Given the description of an element on the screen output the (x, y) to click on. 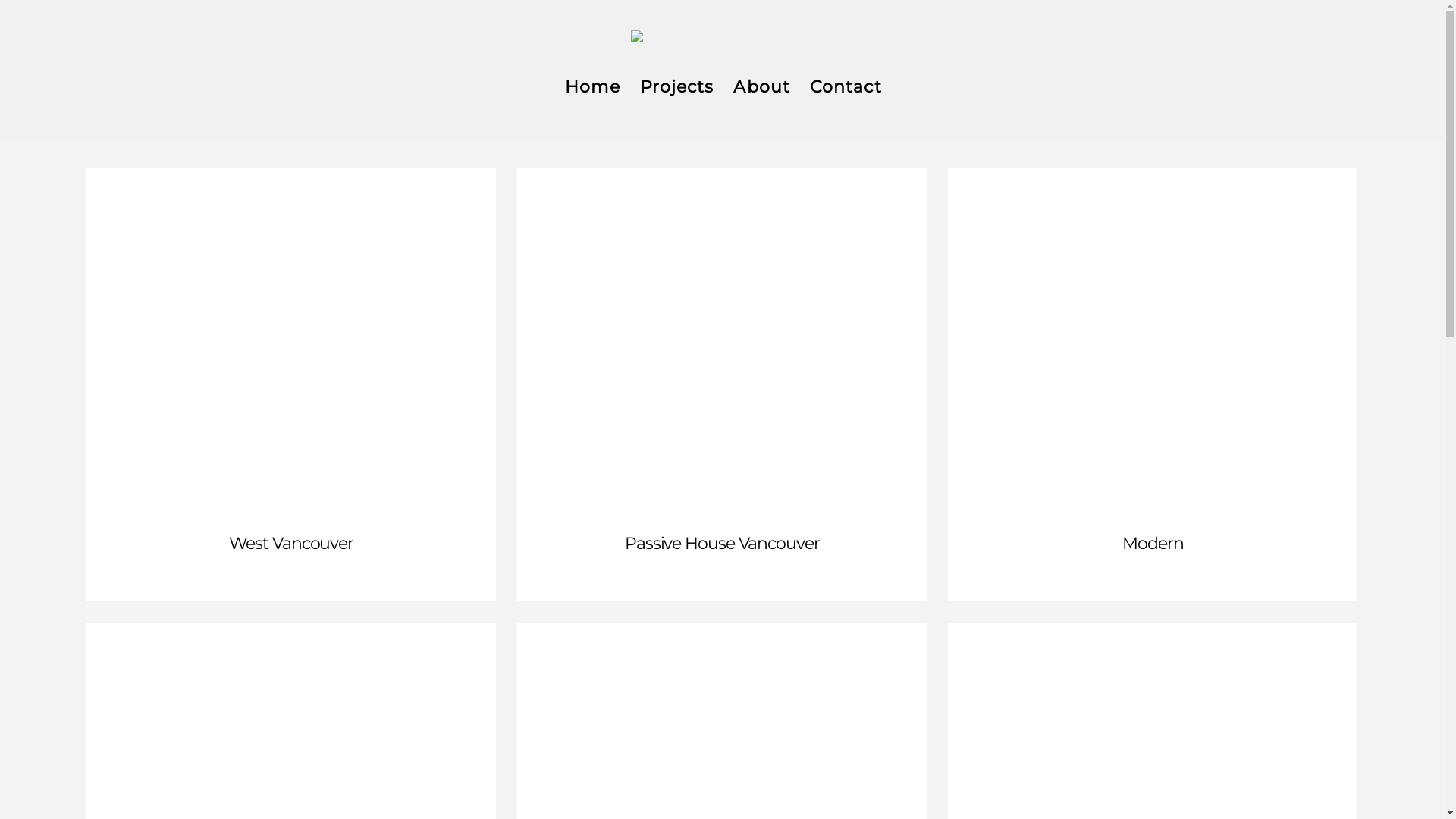
Home Element type: text (591, 89)
Projects Element type: text (675, 89)
Contact Element type: text (844, 89)
About Element type: text (760, 89)
